Given the description of an element on the screen output the (x, y) to click on. 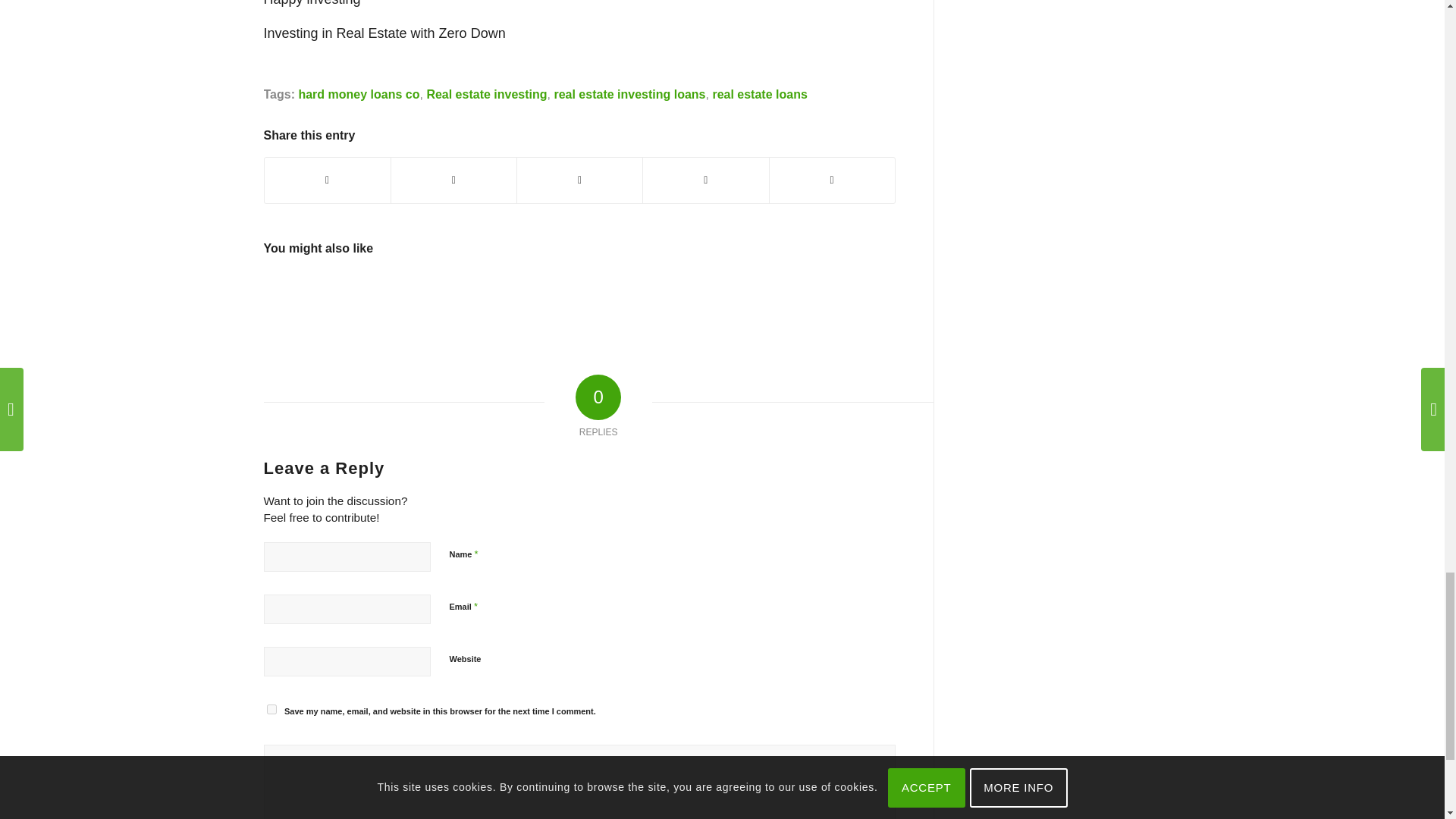
yes (271, 709)
